Given the description of an element on the screen output the (x, y) to click on. 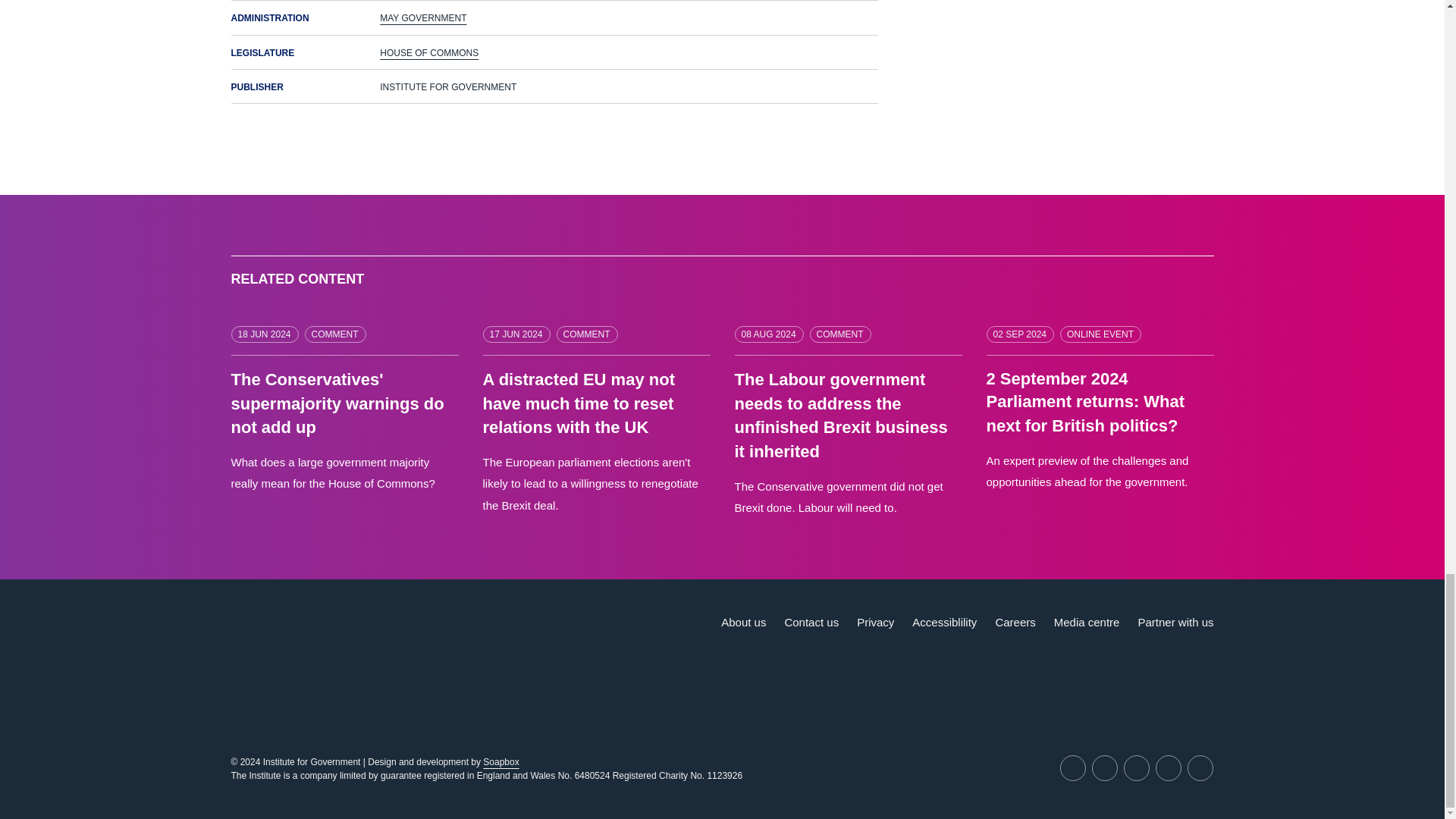
Visit IfG YouTube profile (1137, 768)
Visit IfG Facebook profile (1168, 768)
Visit IfG Instagram profile (1200, 768)
Visit IfG Twitter profile (1072, 768)
Return to the homepage (321, 639)
Visit IfG LinkedIn profile (1105, 768)
